Given the description of an element on the screen output the (x, y) to click on. 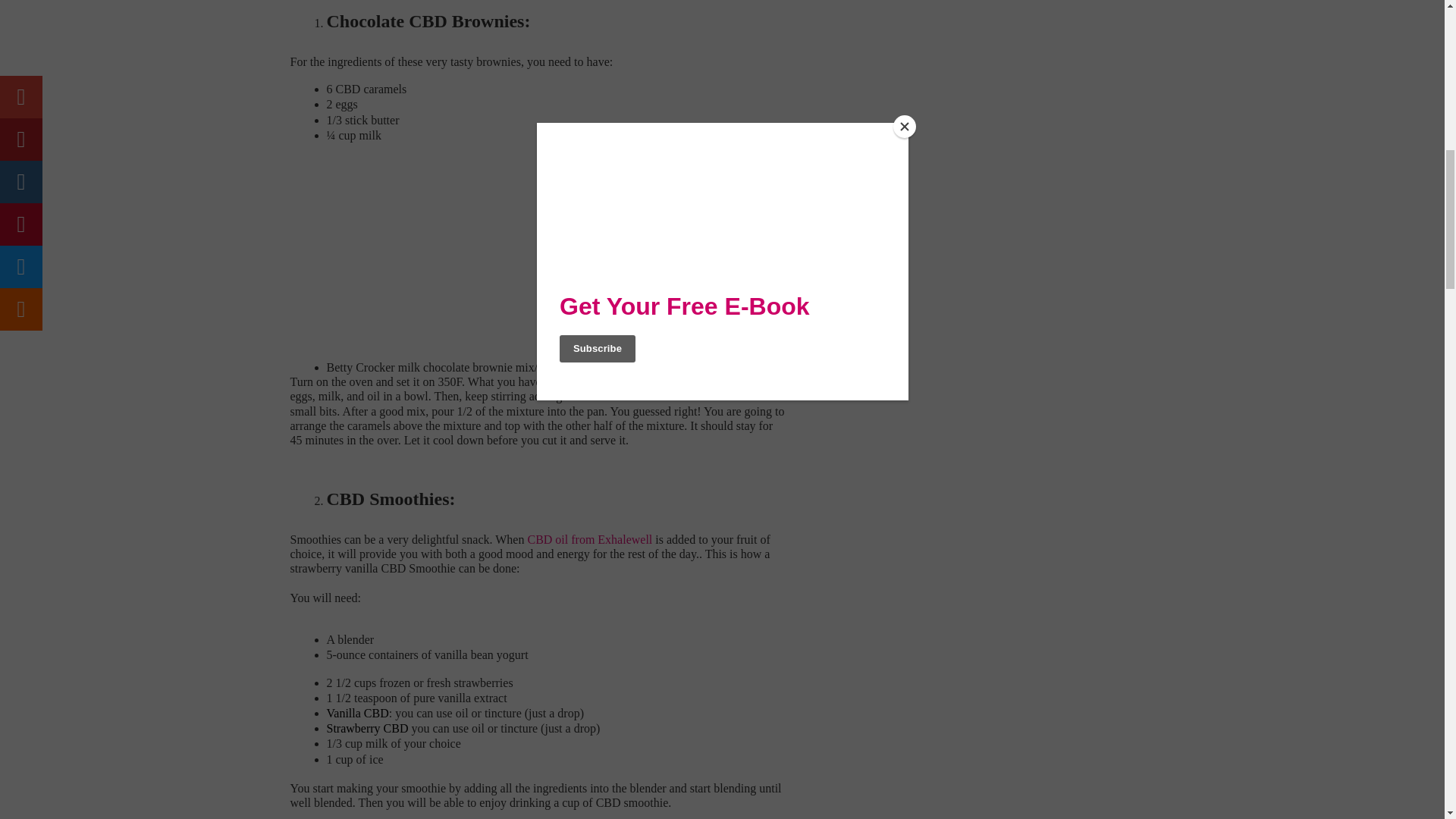
Strawberry CBD (366, 727)
CBD oil from Exhalewell (589, 539)
Vanilla CBD (357, 712)
Advertisement (453, 248)
